Given the description of an element on the screen output the (x, y) to click on. 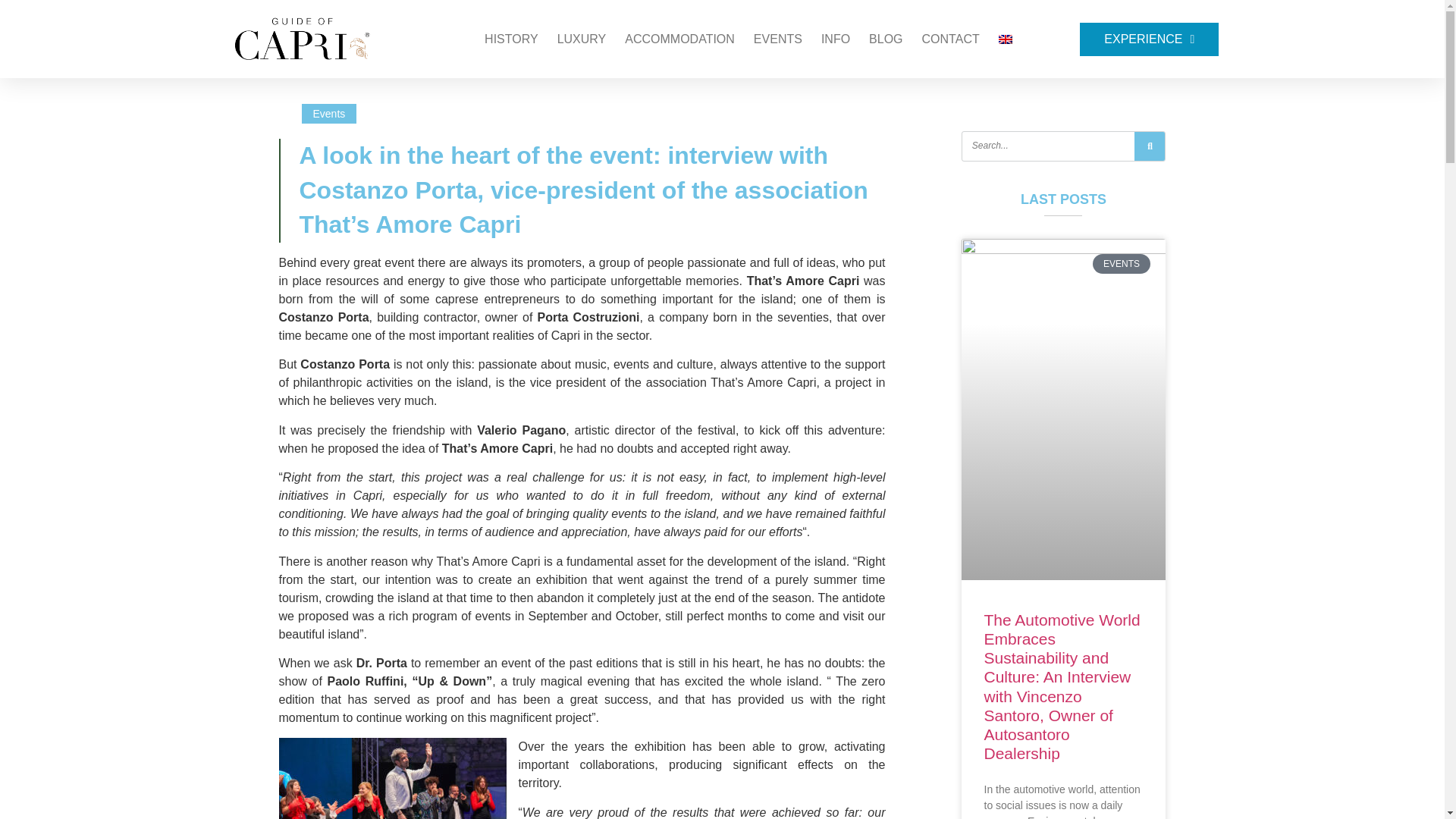
HISTORY (511, 39)
EXPERIENCE (1149, 39)
Events (328, 113)
CONTACT (950, 39)
LAST POSTS (1063, 184)
EXPERIENCE (1142, 39)
EVENTS (748, 39)
LUXURY (778, 39)
ACCOMMODATION (582, 39)
Events (679, 39)
